Given the description of an element on the screen output the (x, y) to click on. 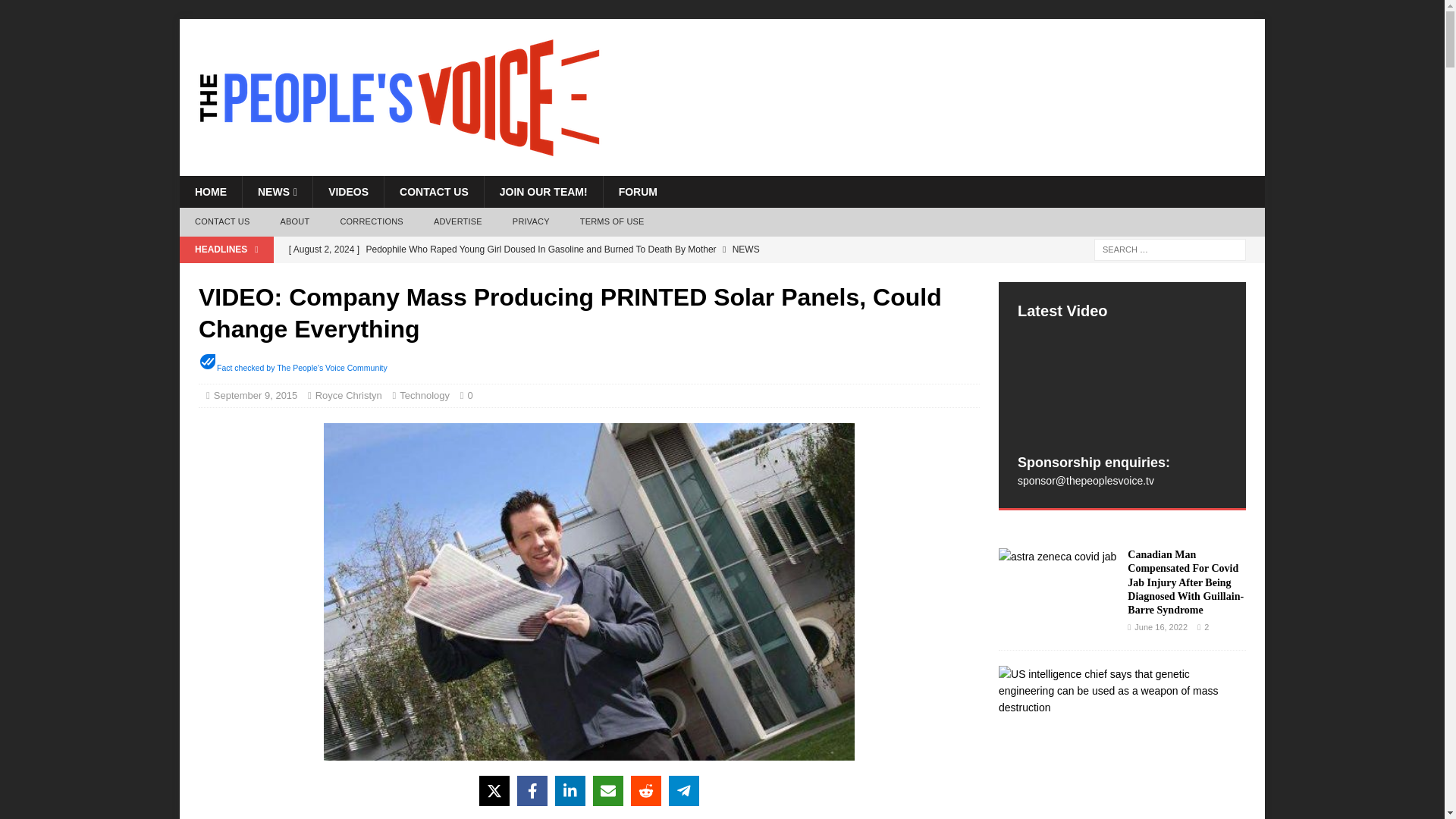
ADVERTISE (458, 222)
TERMS OF USE (611, 222)
CONTACT US (221, 222)
CONTACT US (433, 192)
September 9, 2015 (256, 395)
HOME (210, 192)
FORUM (637, 192)
Fact checked by The People's Voice Community (301, 367)
CORRECTIONS (370, 222)
